Given the description of an element on the screen output the (x, y) to click on. 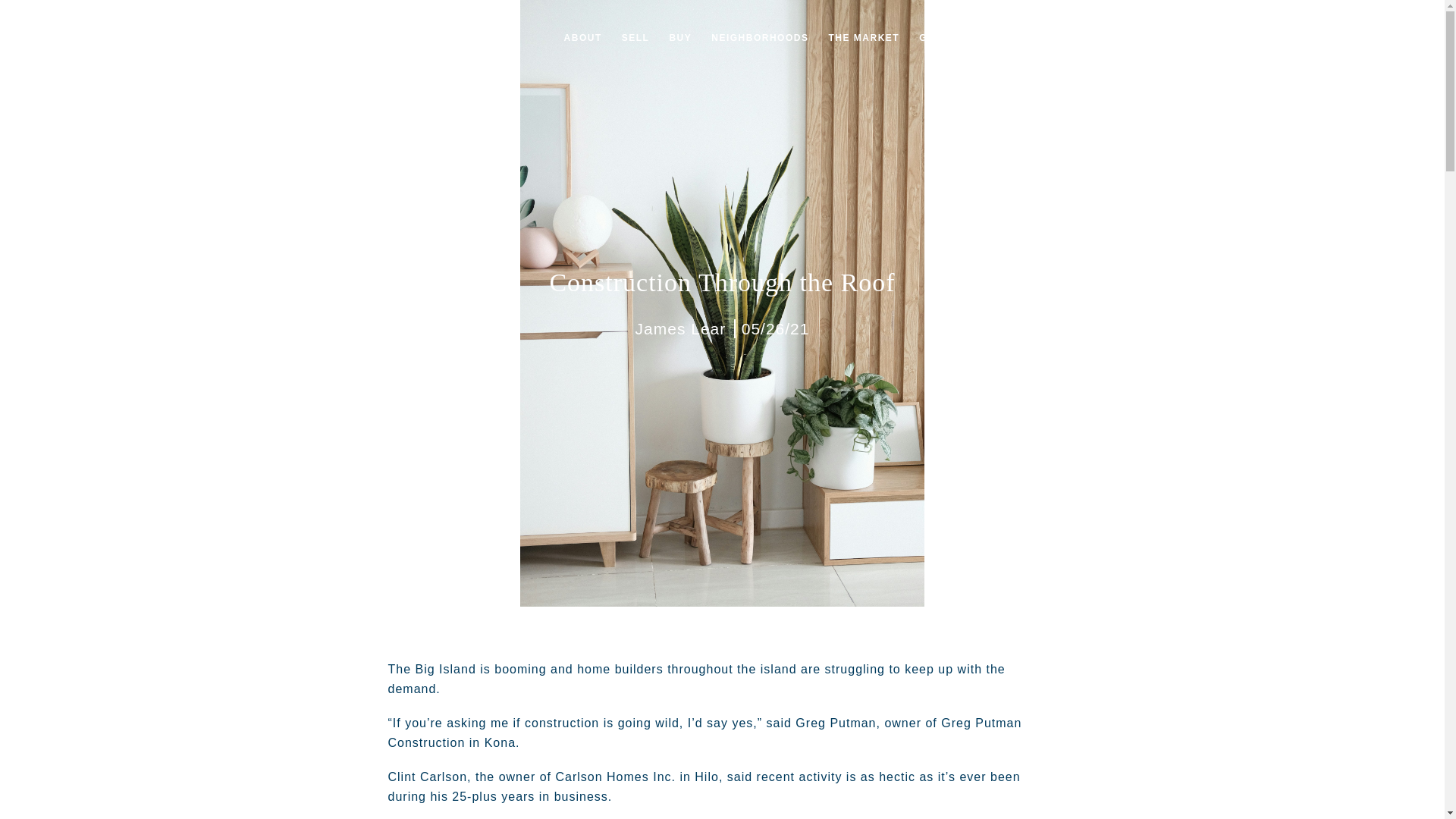
NEIGHBORHOODS (759, 38)
HOME SEARCH (1156, 38)
BUY (680, 38)
GET IN TOUCH (957, 38)
SELL (635, 38)
THE MARKET (863, 38)
ABOUT (582, 38)
